Given the description of an element on the screen output the (x, y) to click on. 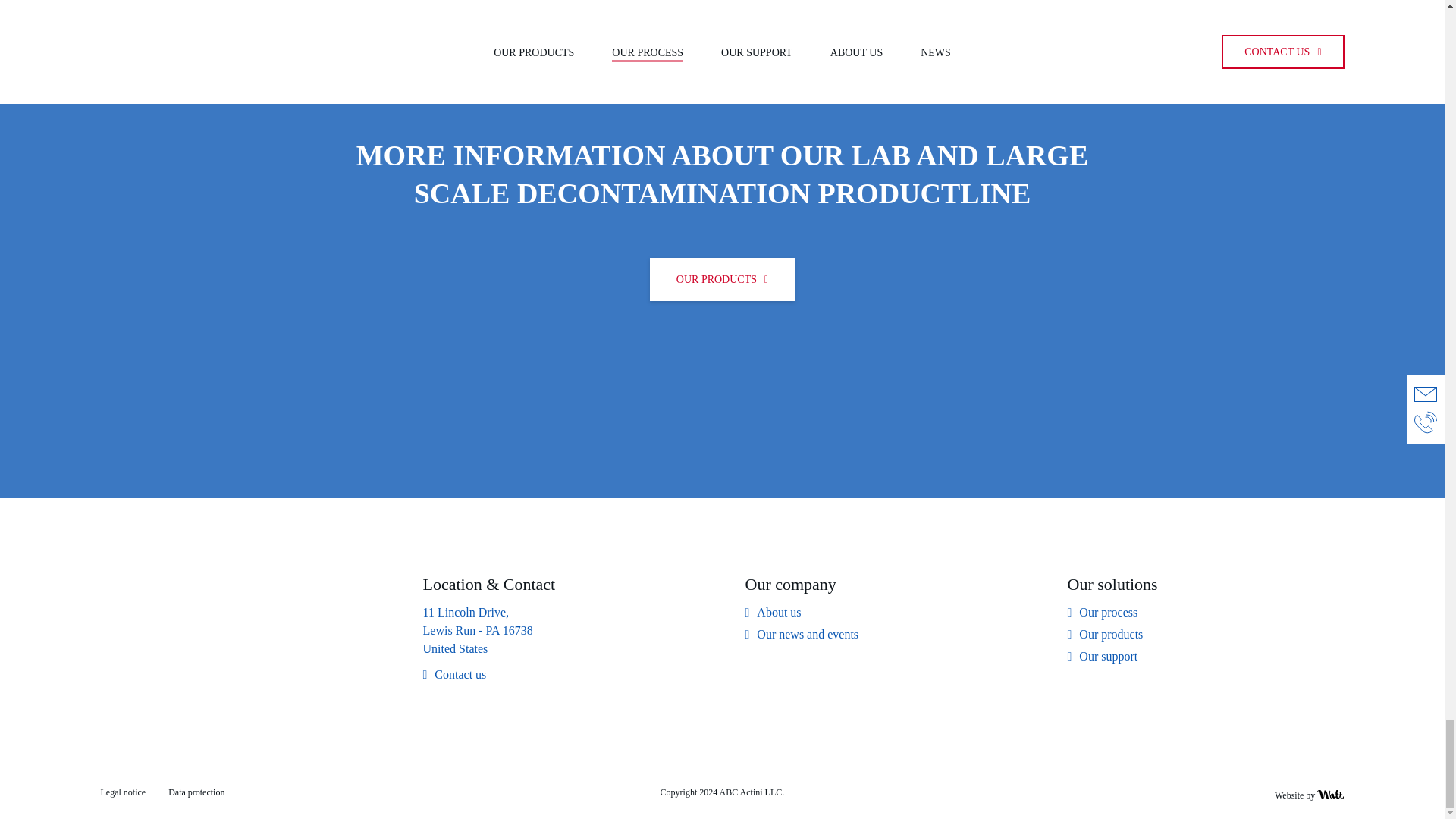
Our news and events (801, 634)
Legal notice (122, 792)
Contact us (454, 674)
Our support (1102, 656)
Our products (1104, 634)
Data protection (196, 792)
Website by (1309, 795)
Our process (1102, 612)
About us (772, 612)
OUR PRODUCTS (721, 279)
